Given the description of an element on the screen output the (x, y) to click on. 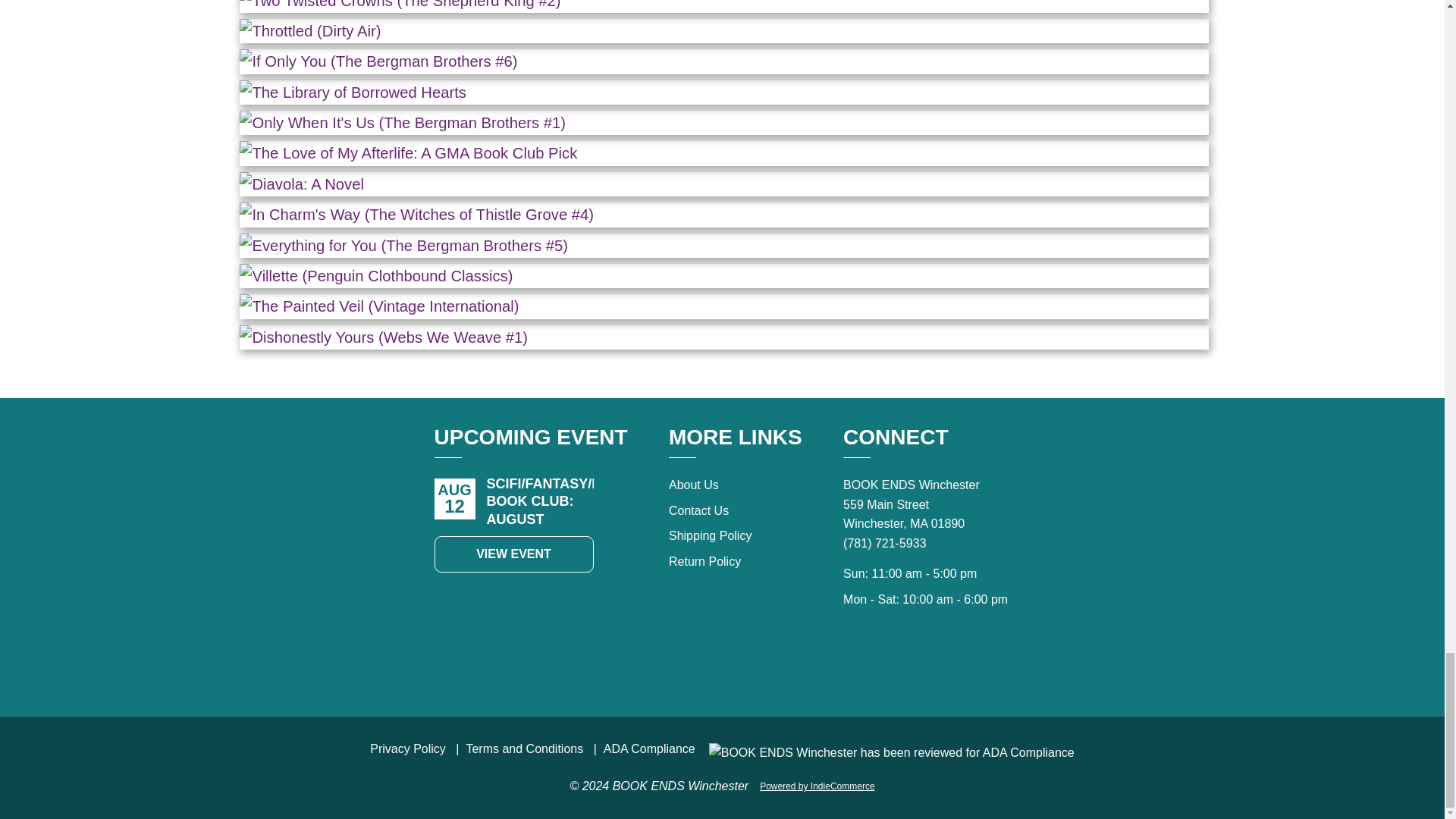
Connect with Facebook (926, 663)
Connect with Instagram (959, 663)
Connect with Tik Tok (892, 663)
